Given the description of an element on the screen output the (x, y) to click on. 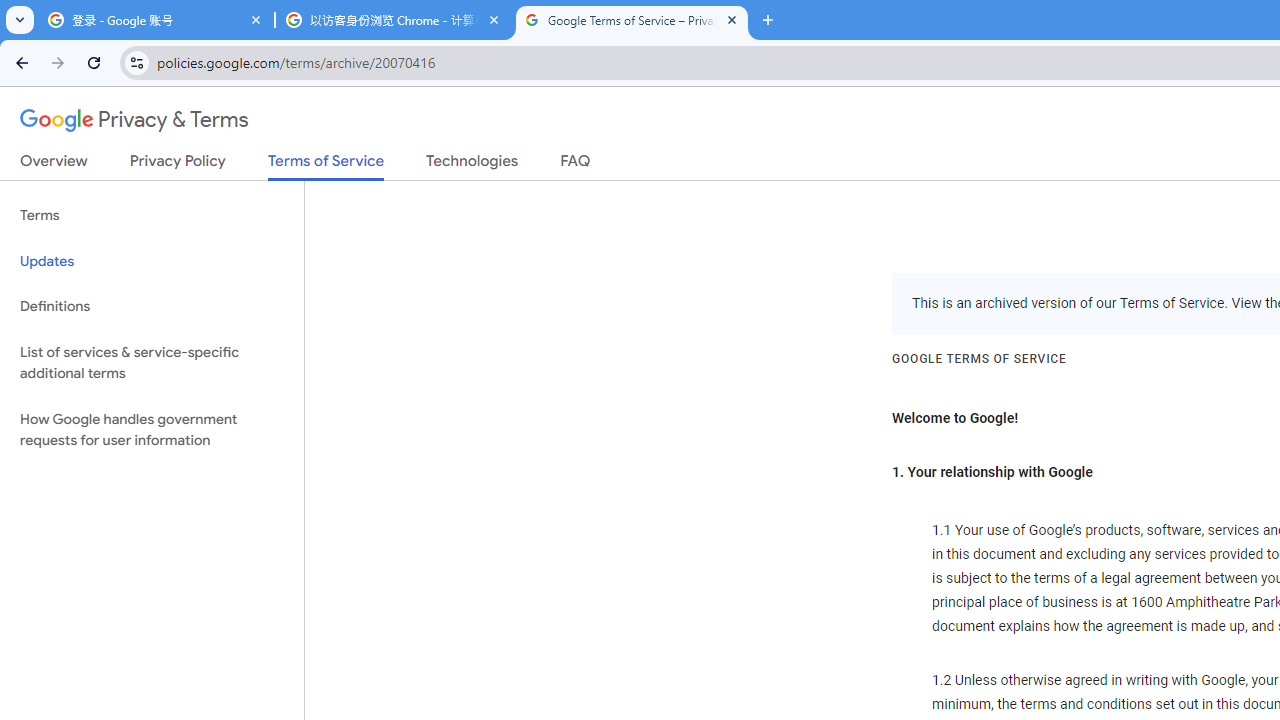
How Google handles government requests for user information (152, 429)
Definitions (152, 306)
List of services & service-specific additional terms (152, 362)
